Given the description of an element on the screen output the (x, y) to click on. 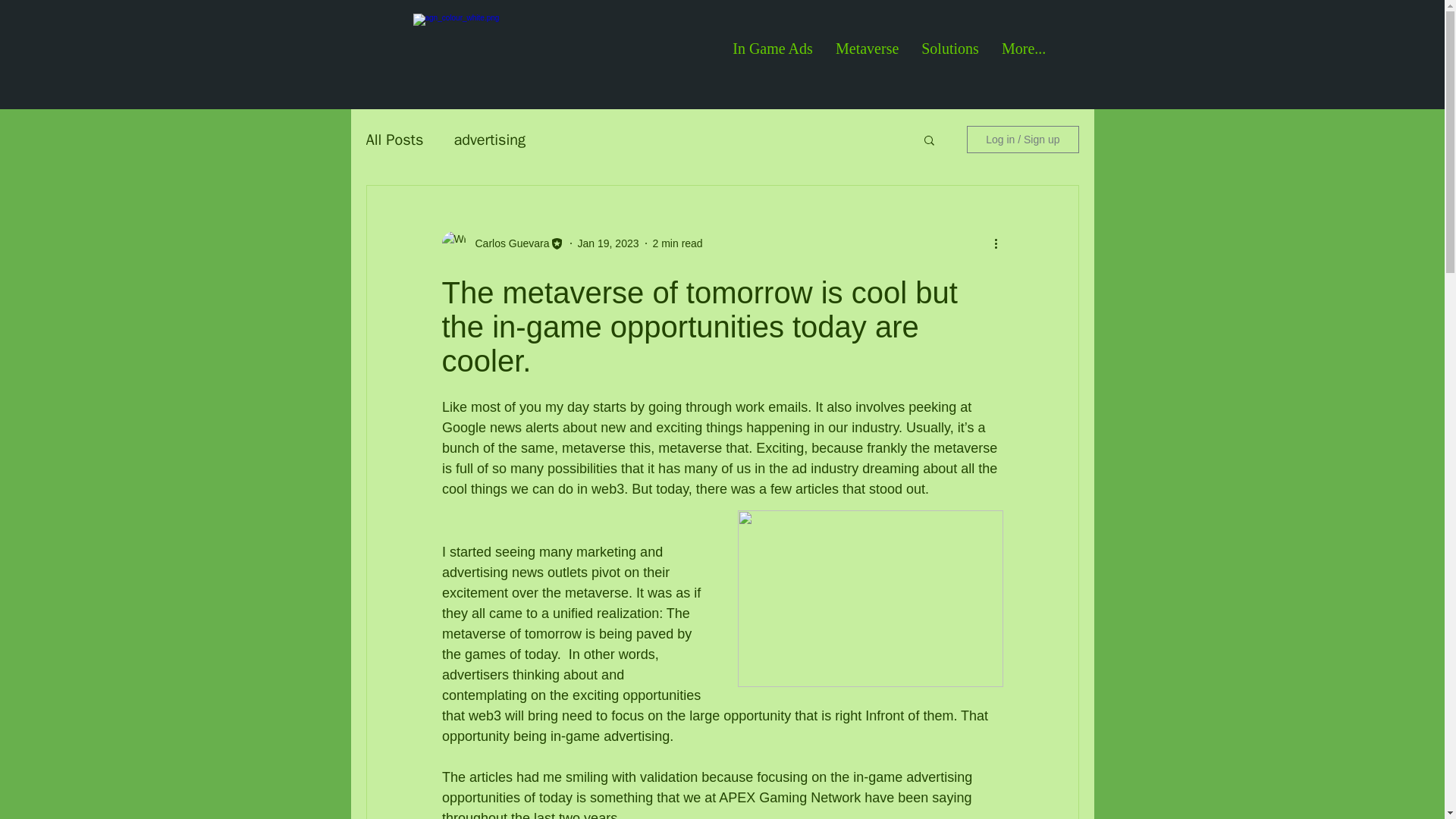
In Game Ads (772, 53)
2 min read (677, 242)
All Posts (394, 138)
advertising (488, 138)
Metaverse (867, 53)
Jan 19, 2023 (608, 242)
Carlos Guevara (506, 242)
